Given the description of an element on the screen output the (x, y) to click on. 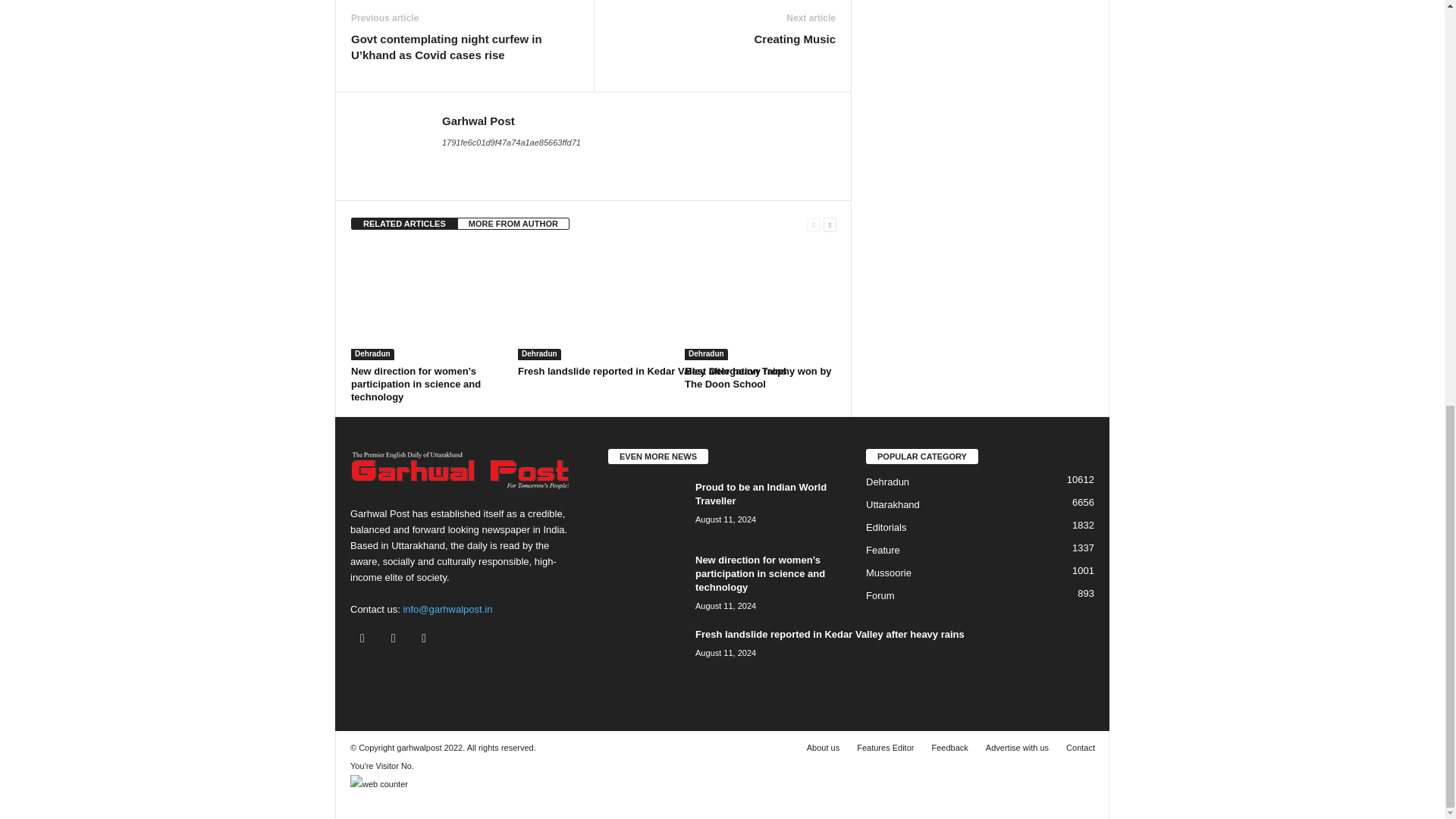
Facebook (365, 638)
Best Delegation Trophy won by The Doon School (759, 303)
Best Delegation Trophy won by The Doon School (757, 377)
